Given the description of an element on the screen output the (x, y) to click on. 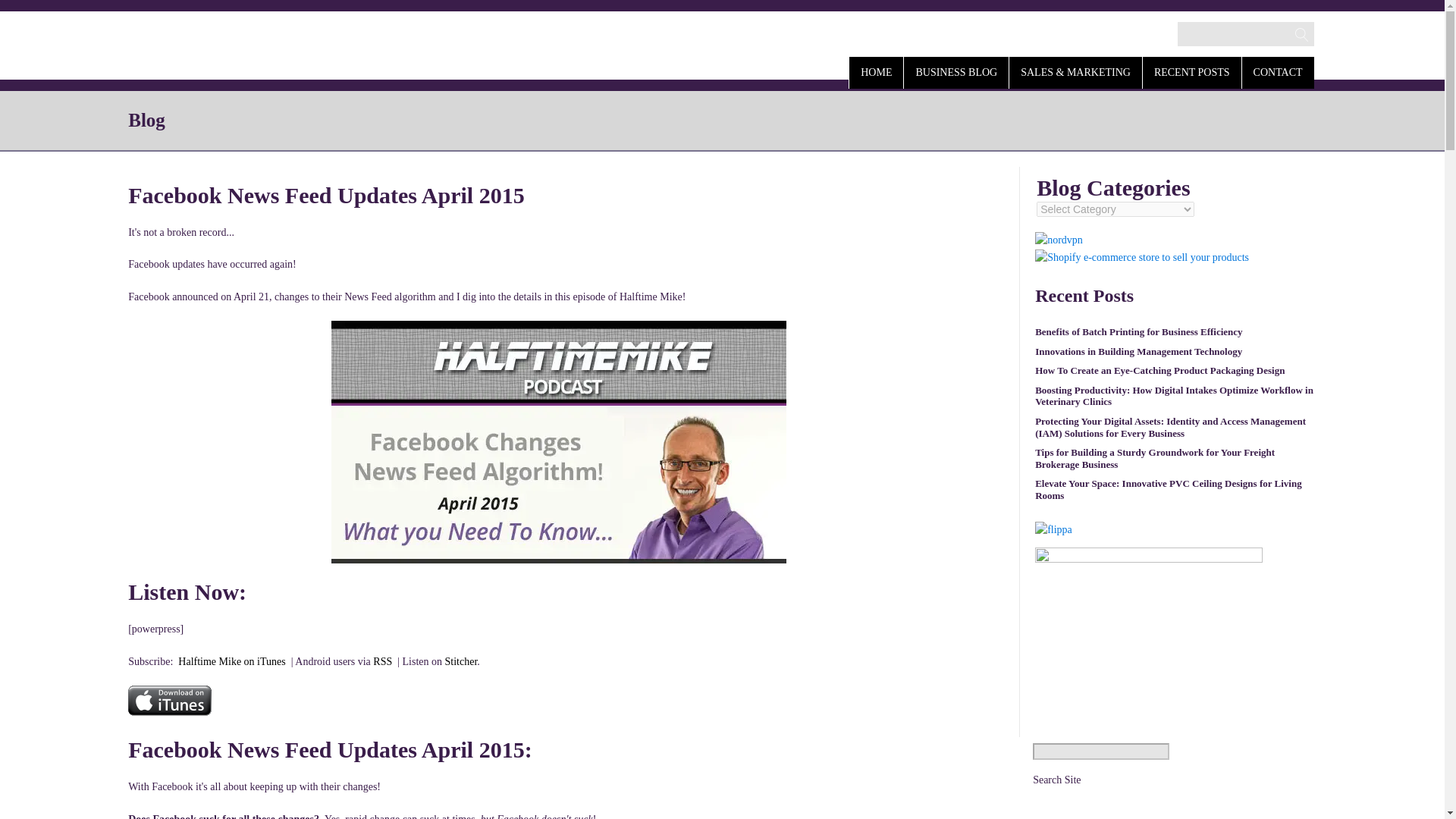
Podcast RSS feed (381, 661)
Mike Gingerich Halftime Mike Podcast on iTunes (231, 661)
Search (27, 12)
HOME (875, 71)
BUSINESS BLOG (956, 71)
badge itunes lrg Doable Digital Marketing (169, 700)
